Given the description of an element on the screen output the (x, y) to click on. 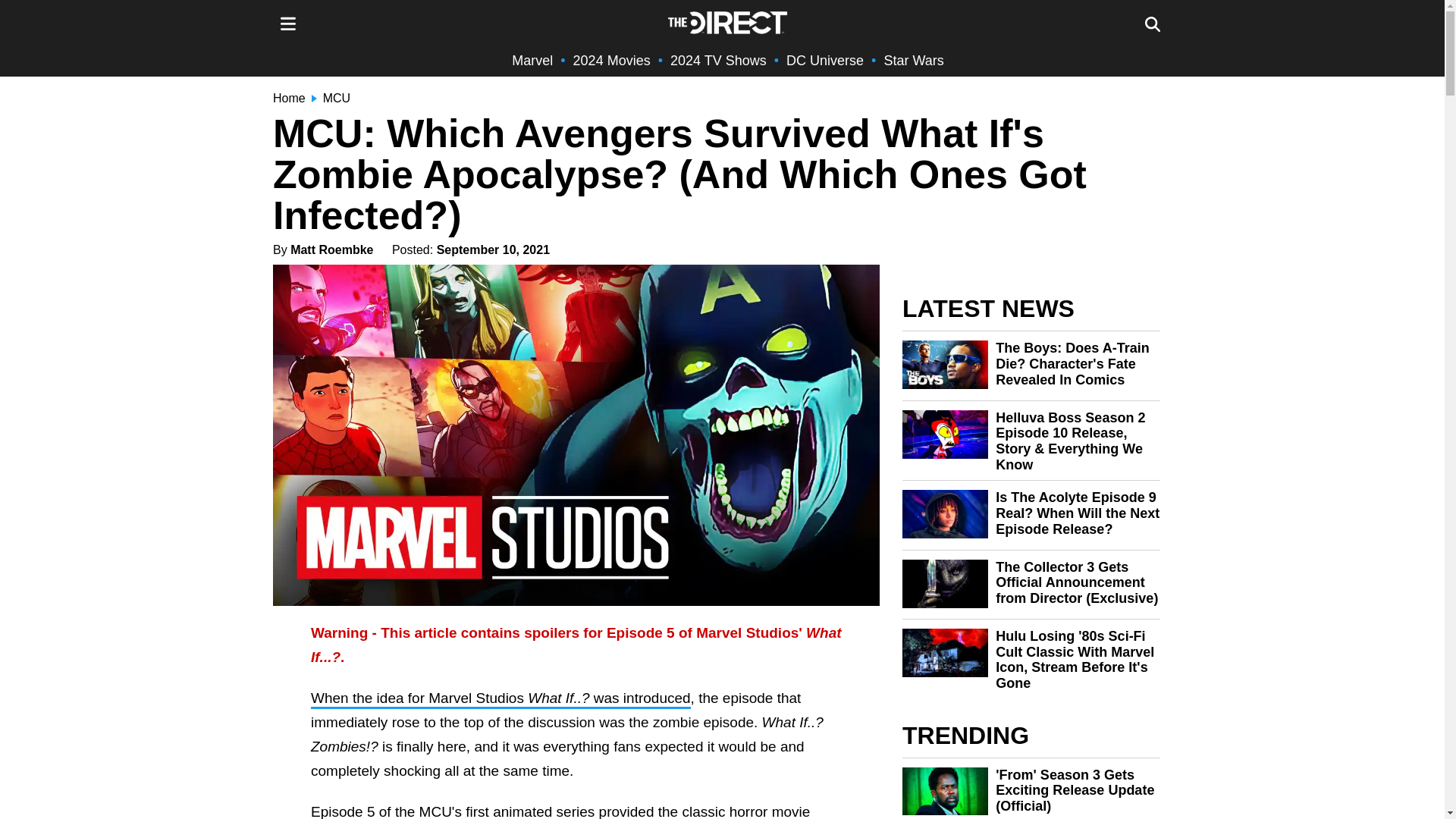
2024 Movies (611, 60)
2024 TV Shows (718, 60)
DC Universe (824, 60)
Star Wars (913, 60)
Marvel (532, 60)
